Given the description of an element on the screen output the (x, y) to click on. 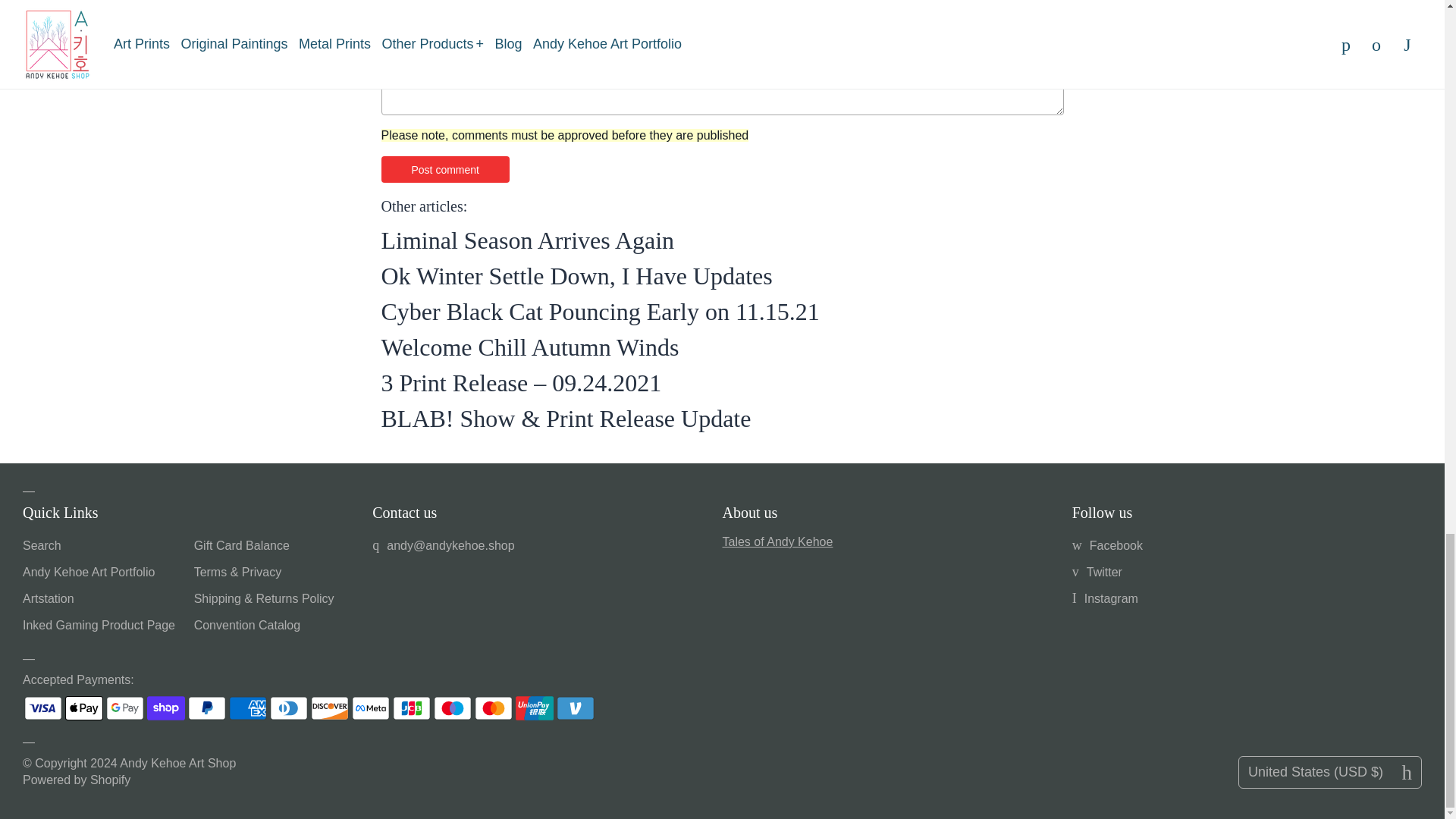
Andy Kehoe Art Shop on Instagram (1104, 598)
Post comment (444, 169)
Andy Kehoe Art Shop on Facebook (1106, 545)
Andy Kehoe Art Shop on Twitter (1096, 571)
About (777, 541)
